Given the description of an element on the screen output the (x, y) to click on. 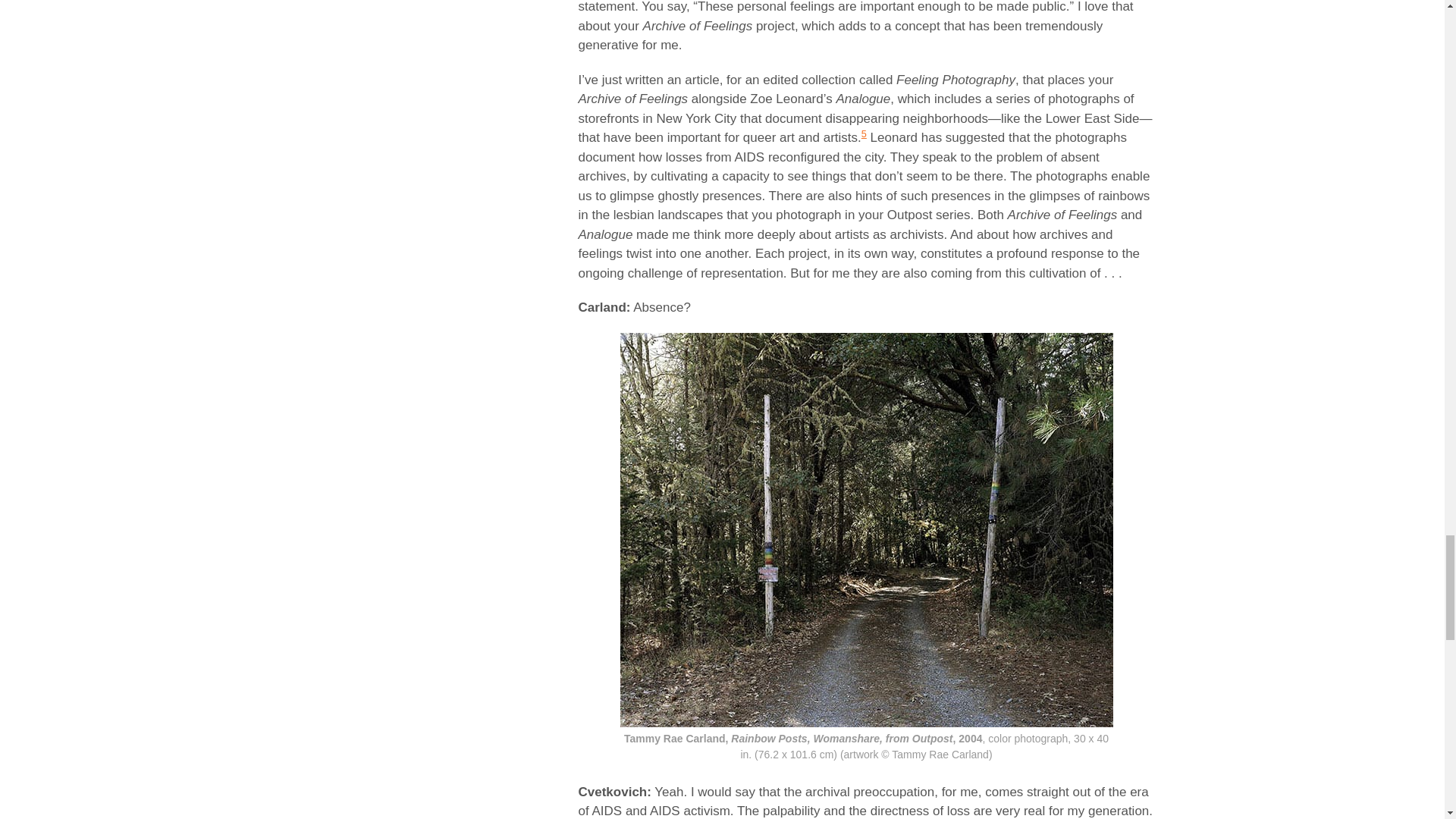
5 (863, 133)
